Given the description of an element on the screen output the (x, y) to click on. 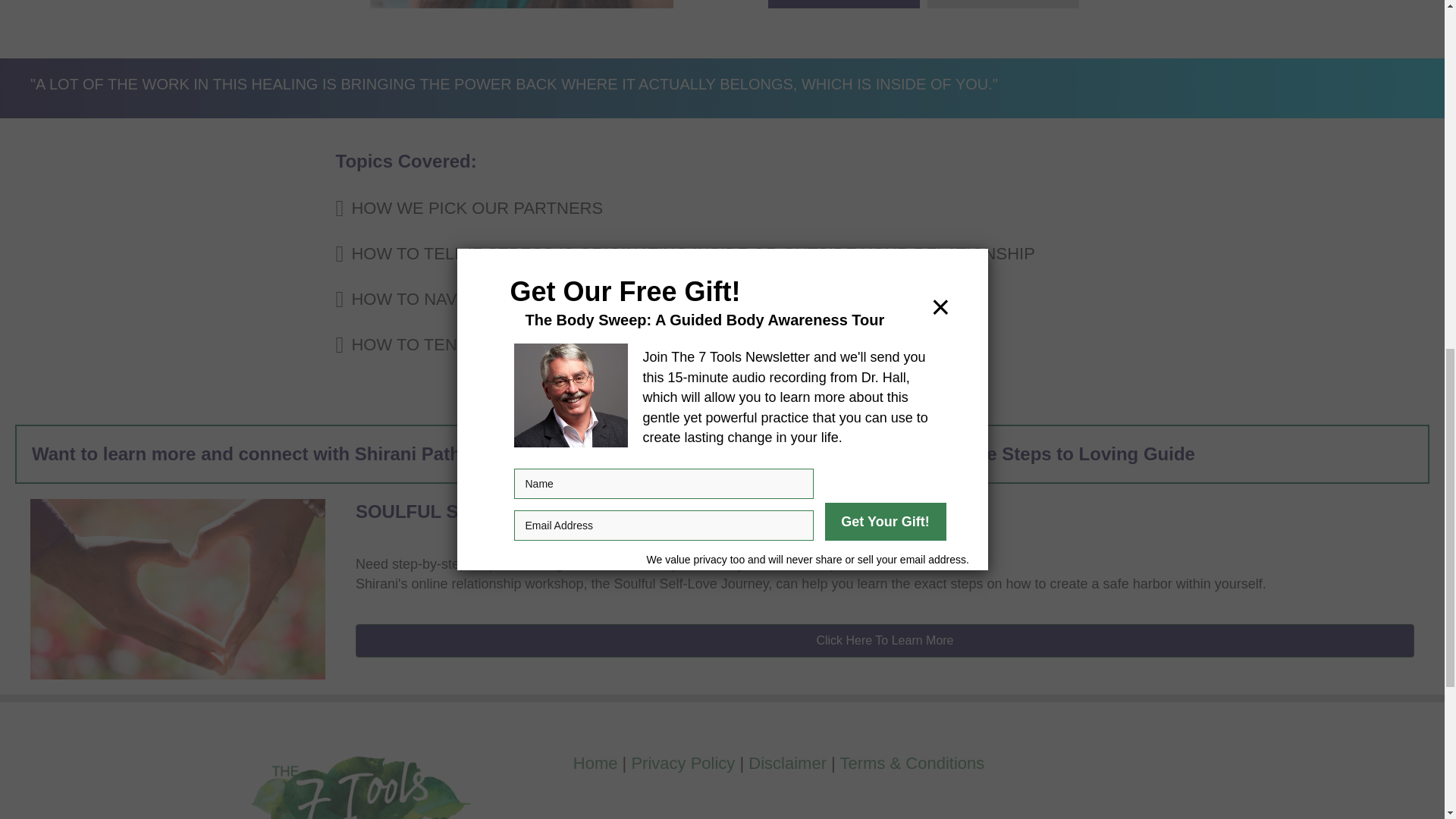
SOULFUL SELF-LOVE JOURNEY (498, 511)
blur-bokeh-bright-613321 (177, 588)
7 Tools Facebook (357, 760)
Book Bio Pic - Shirani M. Pathak (520, 4)
